Given the description of an element on the screen output the (x, y) to click on. 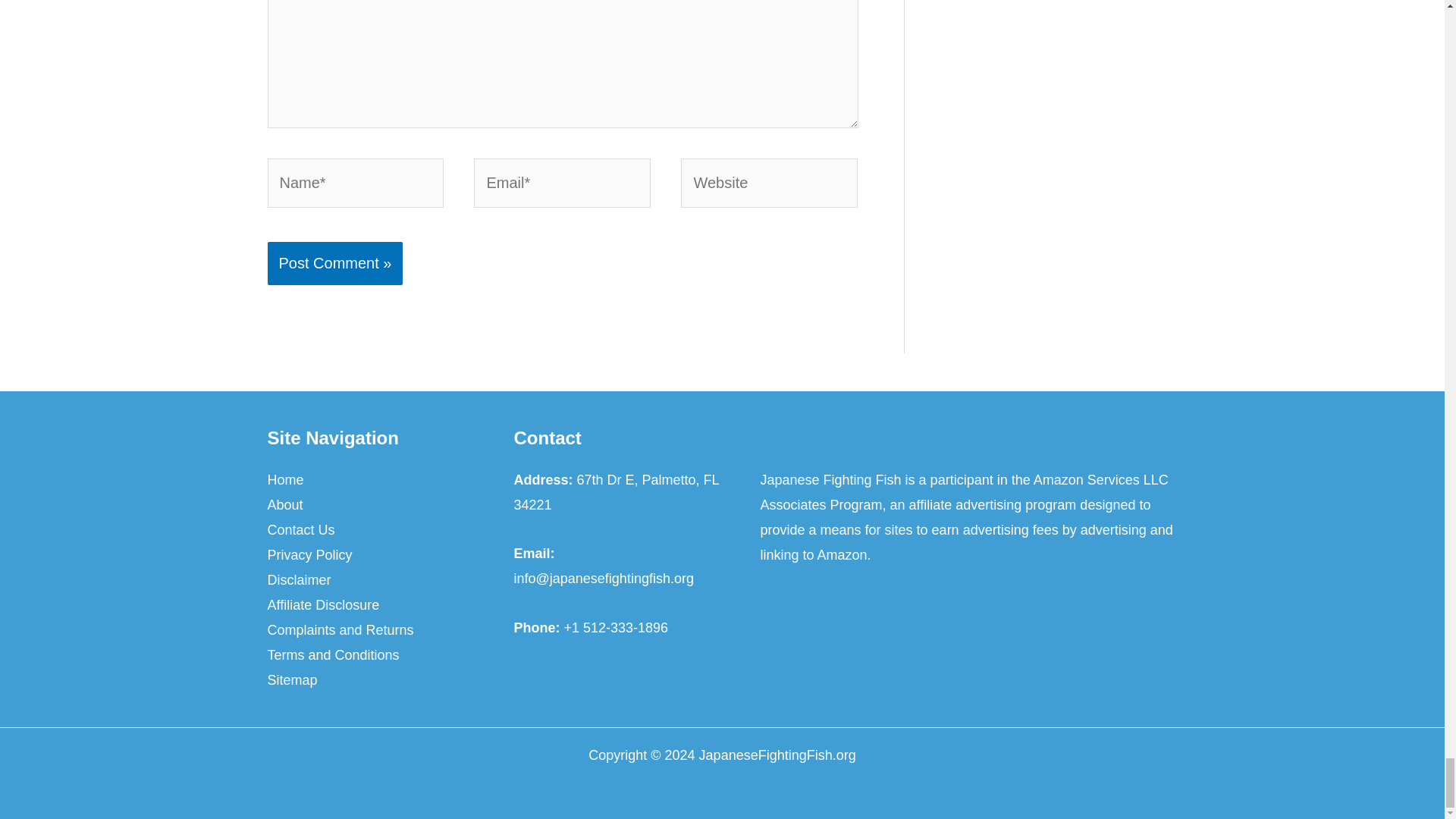
Betta Fish Home (284, 480)
Our Disclaimer (298, 580)
